Given the description of an element on the screen output the (x, y) to click on. 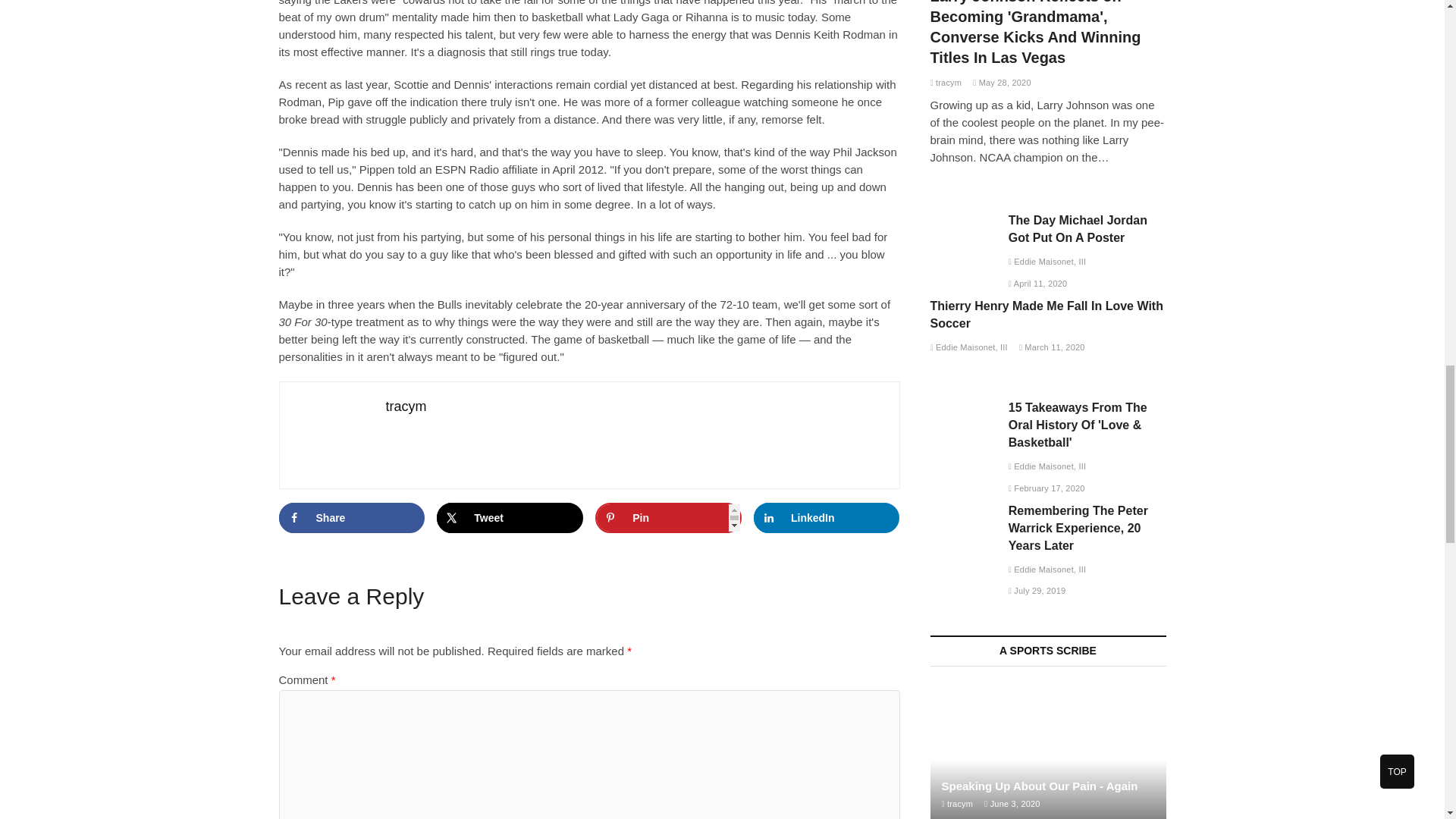
Save to Pinterest (668, 517)
Share on Facebook (352, 517)
Share on LinkedIn (826, 517)
Share on X (509, 517)
